Given the description of an element on the screen output the (x, y) to click on. 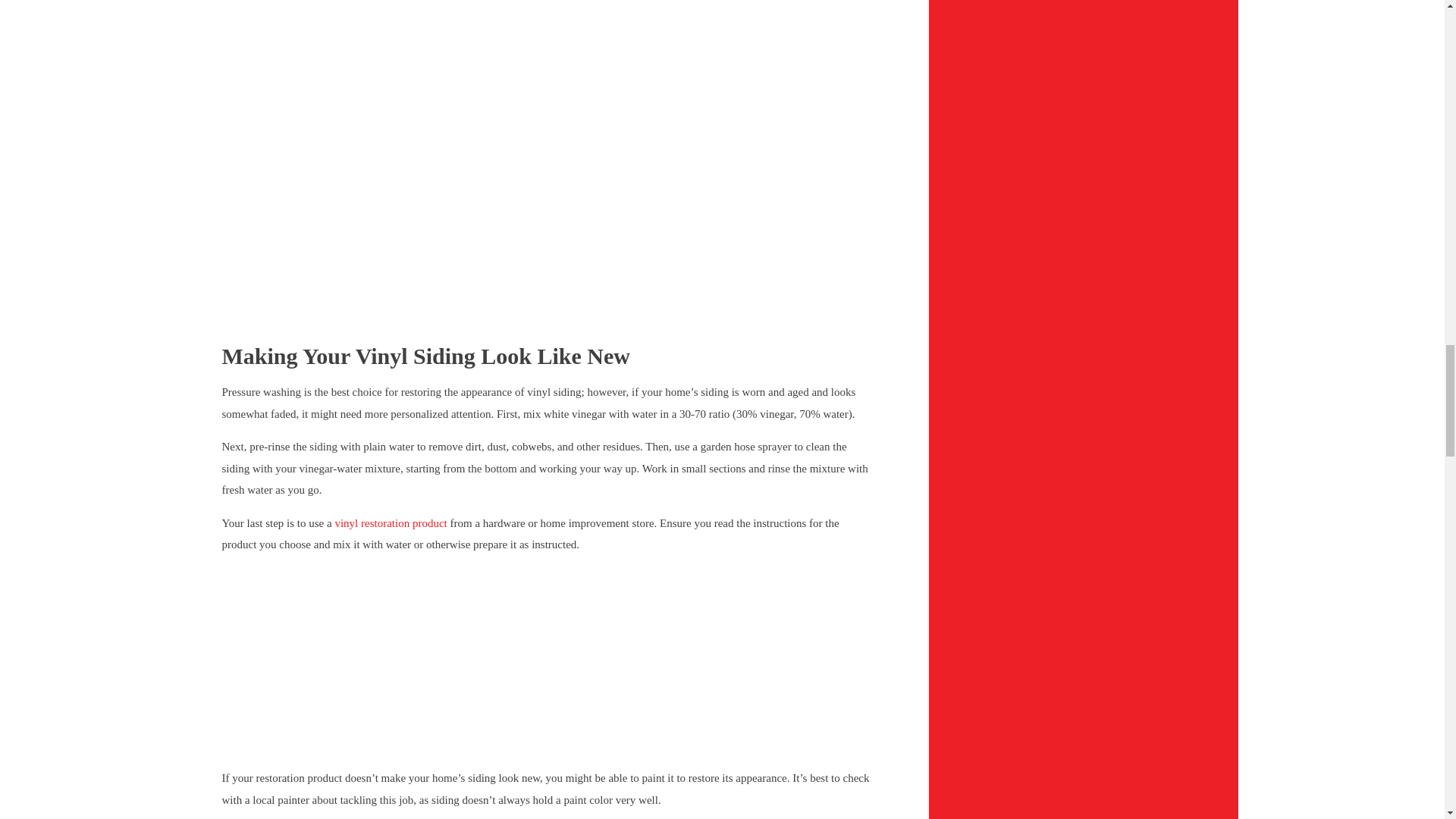
vinyl restoration product (390, 522)
